Given the description of an element on the screen output the (x, y) to click on. 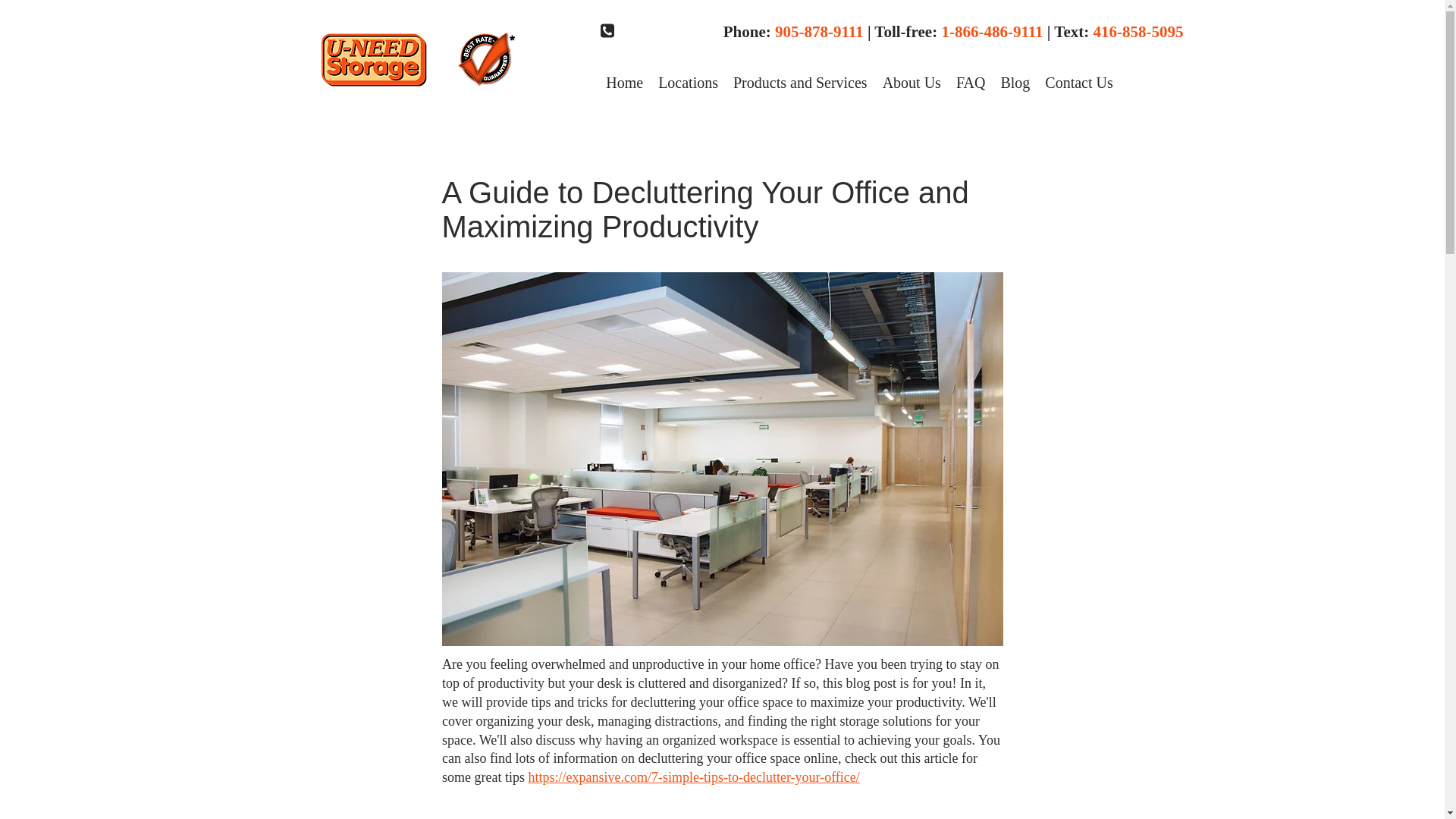
FAQ (970, 82)
Blog (1014, 82)
Contact Us (1077, 82)
About Us (912, 82)
Locations (687, 82)
Products and Services (800, 82)
Home (624, 82)
